Given the description of an element on the screen output the (x, y) to click on. 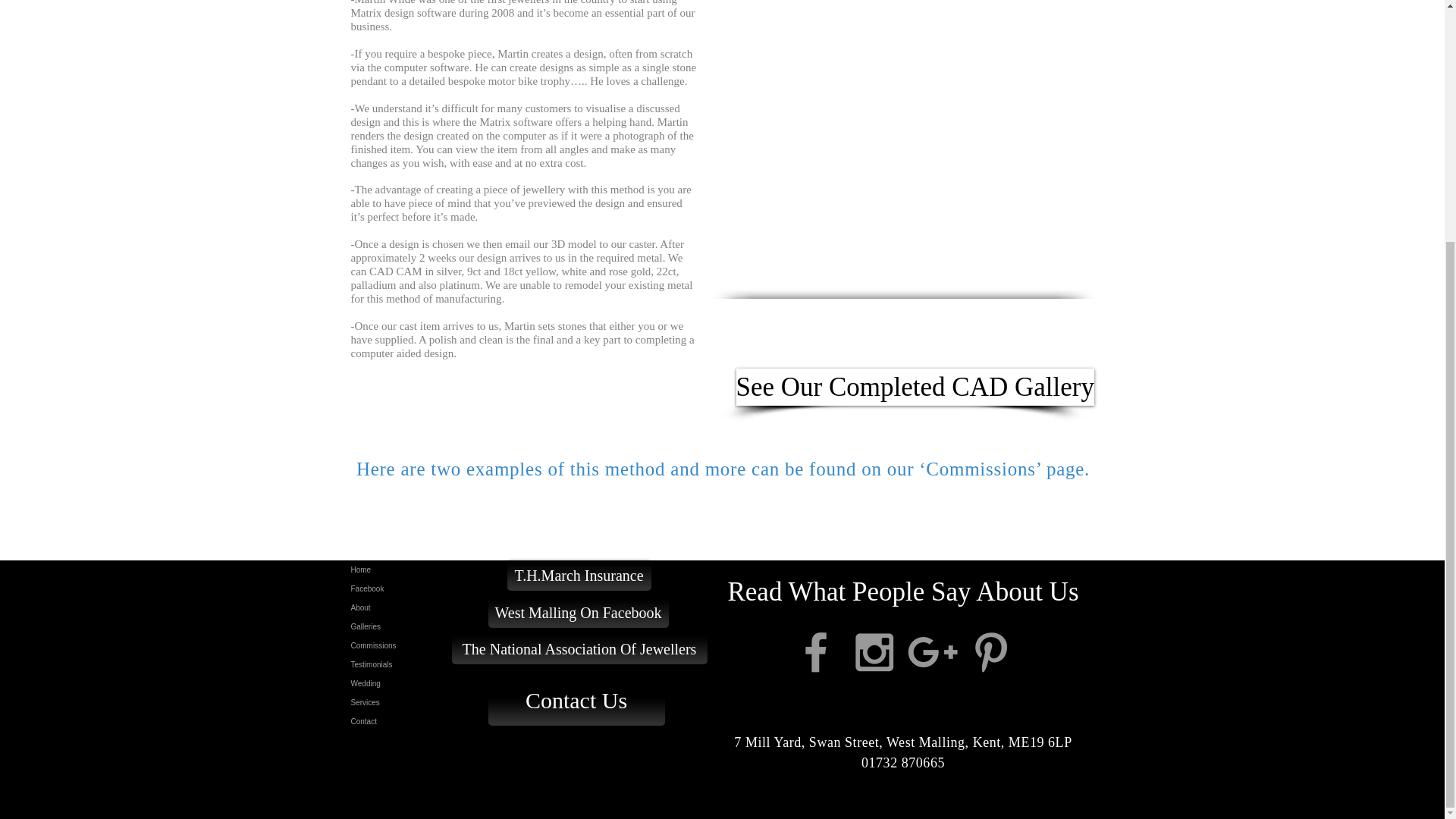
See Our Completed CAD Gallery (914, 386)
Home (409, 569)
About (409, 607)
Facebook (409, 588)
Galleries (409, 626)
